Given the description of an element on the screen output the (x, y) to click on. 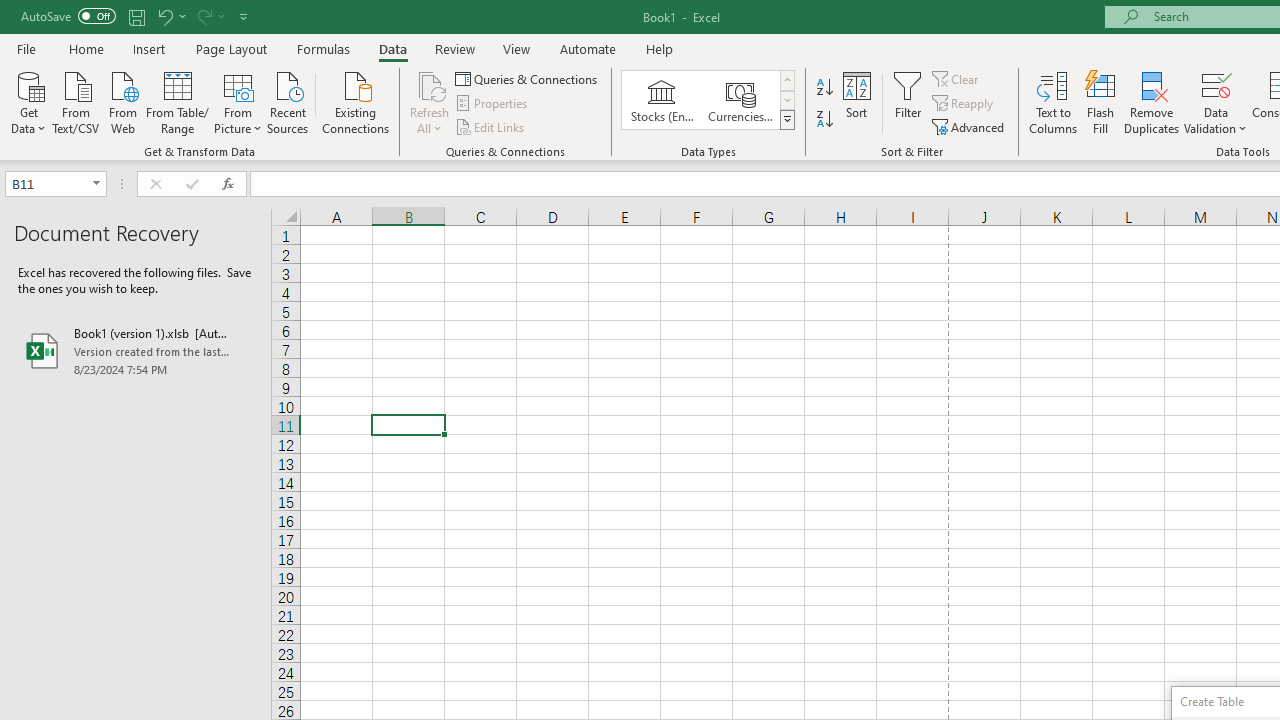
From Picture (238, 101)
Advanced... (970, 126)
Home (86, 48)
Book1 (version 1).xlsb  [AutoRecovered] (136, 350)
Formulas (323, 48)
Currencies (English) (740, 100)
Remove Duplicates (1151, 102)
Edit Links (491, 126)
Save (136, 15)
Customize Quick Access Toolbar (244, 15)
From Table/Range (177, 101)
